Given the description of an element on the screen output the (x, y) to click on. 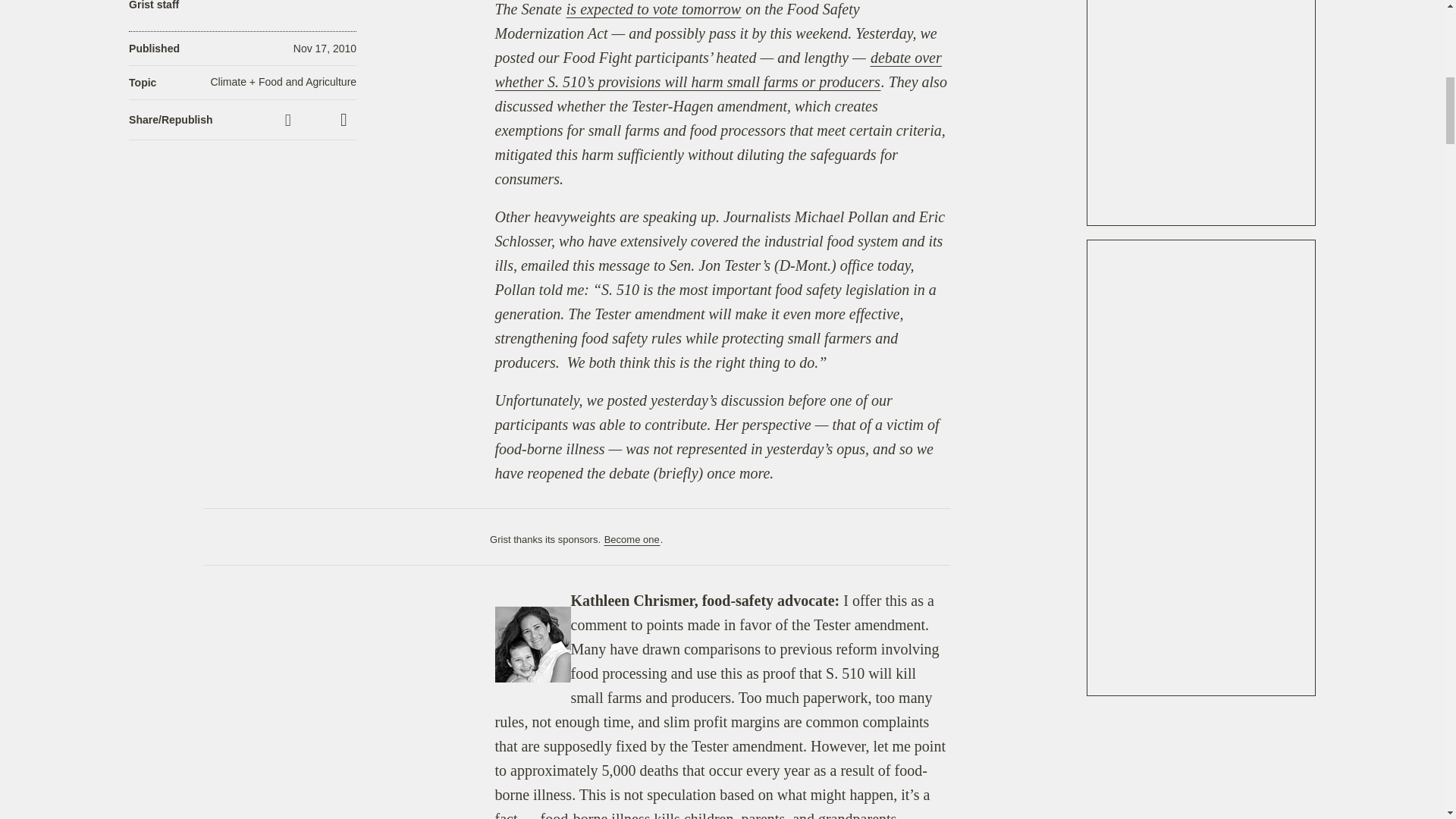
Republish the article (316, 119)
3rd party ad content (1200, 112)
Copy article link (289, 119)
Grist staff (154, 5)
